Given the description of an element on the screen output the (x, y) to click on. 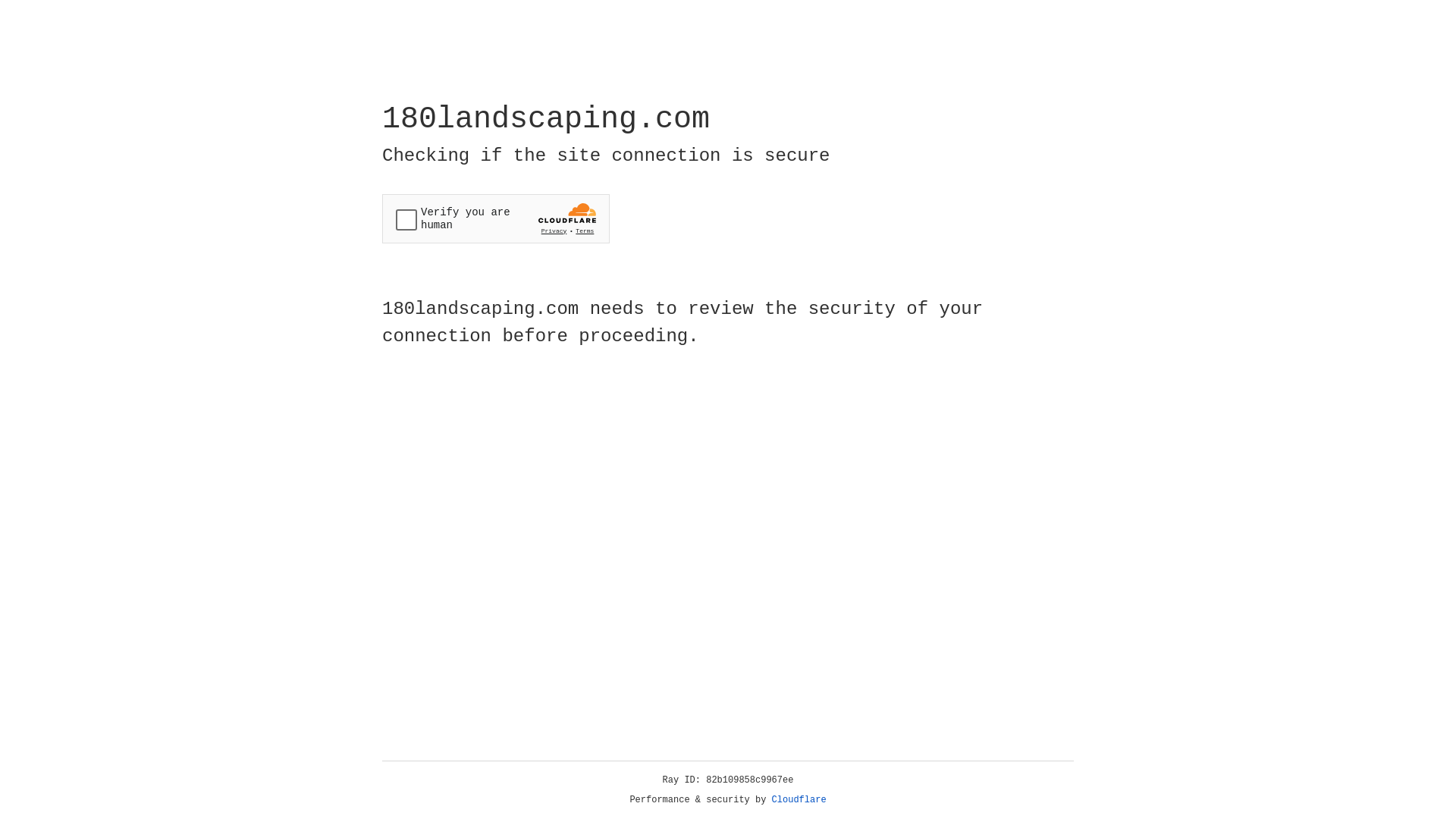
Widget containing a Cloudflare security challenge Element type: hover (495, 218)
Cloudflare Element type: text (798, 799)
